Given the description of an element on the screen output the (x, y) to click on. 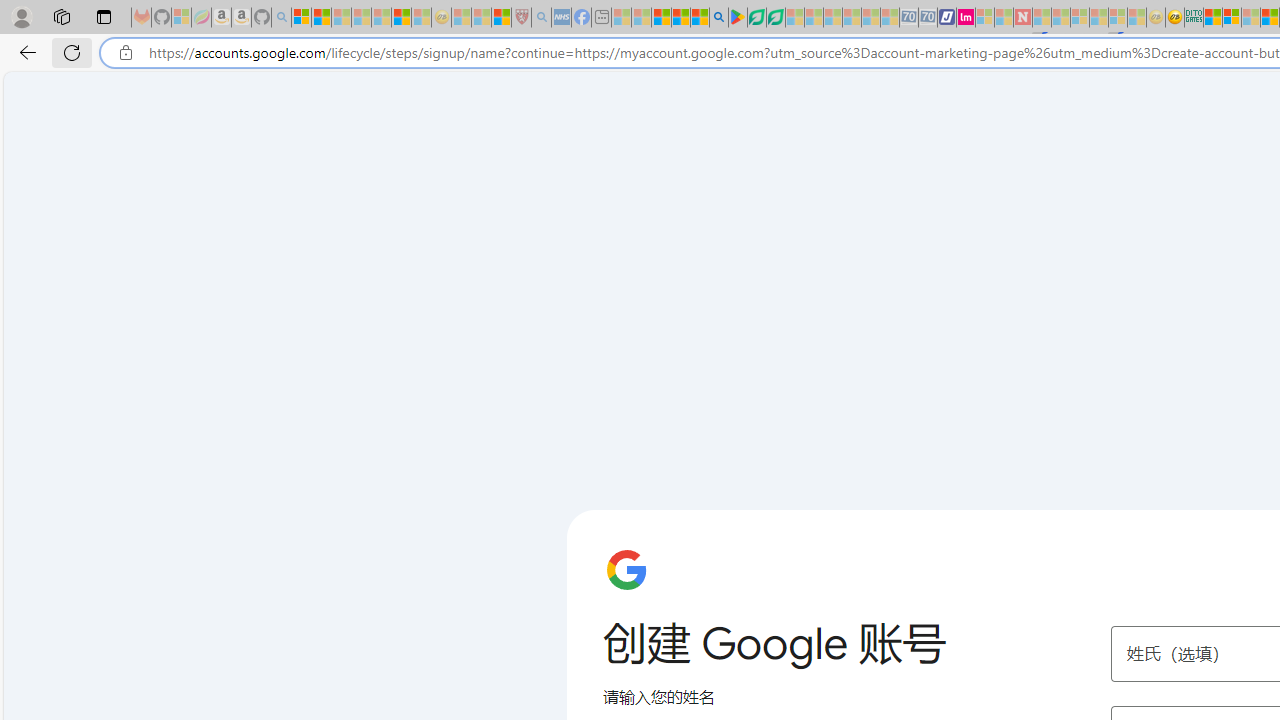
Recipes - MSN - Sleeping (461, 17)
Microsoft Word - consumer-privacy address update 2.2021 (775, 17)
Terms of Use Agreement (756, 17)
14 Common Myths Debunked By Scientific Facts - Sleeping (1061, 17)
Cheap Car Rentals - Save70.com - Sleeping (908, 17)
Bluey: Let's Play! - Apps on Google Play (737, 17)
Microsoft-Report a Concern to Bing - Sleeping (180, 17)
